Given the description of an element on the screen output the (x, y) to click on. 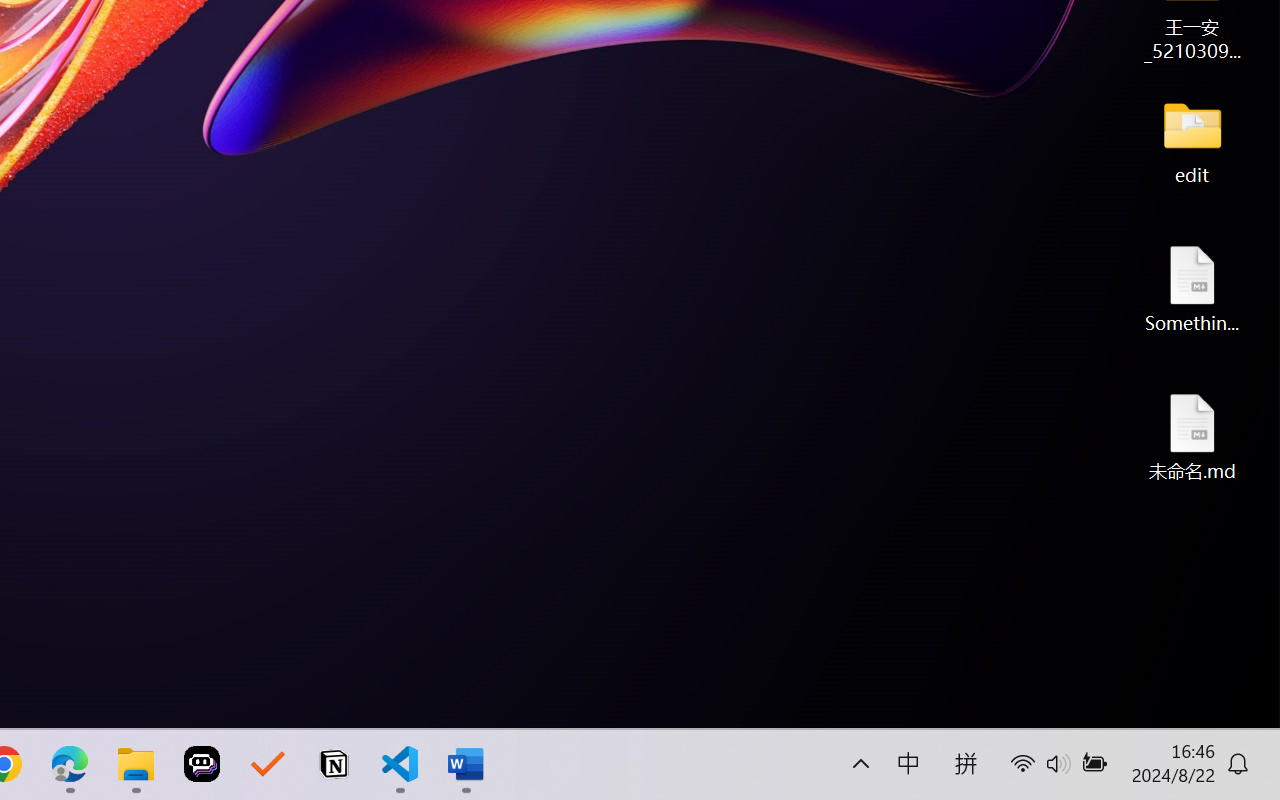
edit (1192, 140)
